Given the description of an element on the screen output the (x, y) to click on. 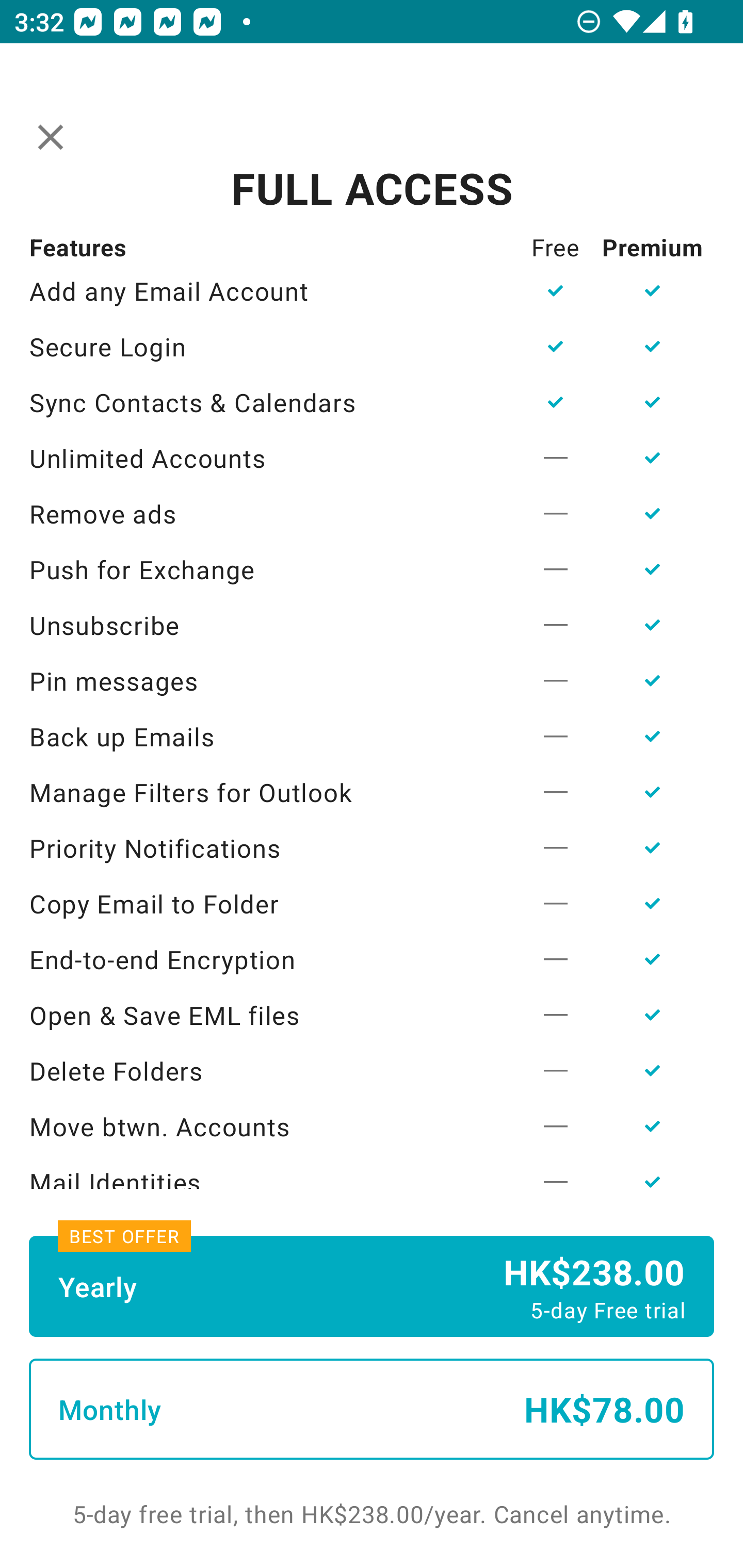
Yearly HK$238.00 5-day Free trial (371, 1286)
Monthly HK$78.00 (371, 1408)
